Given the description of an element on the screen output the (x, y) to click on. 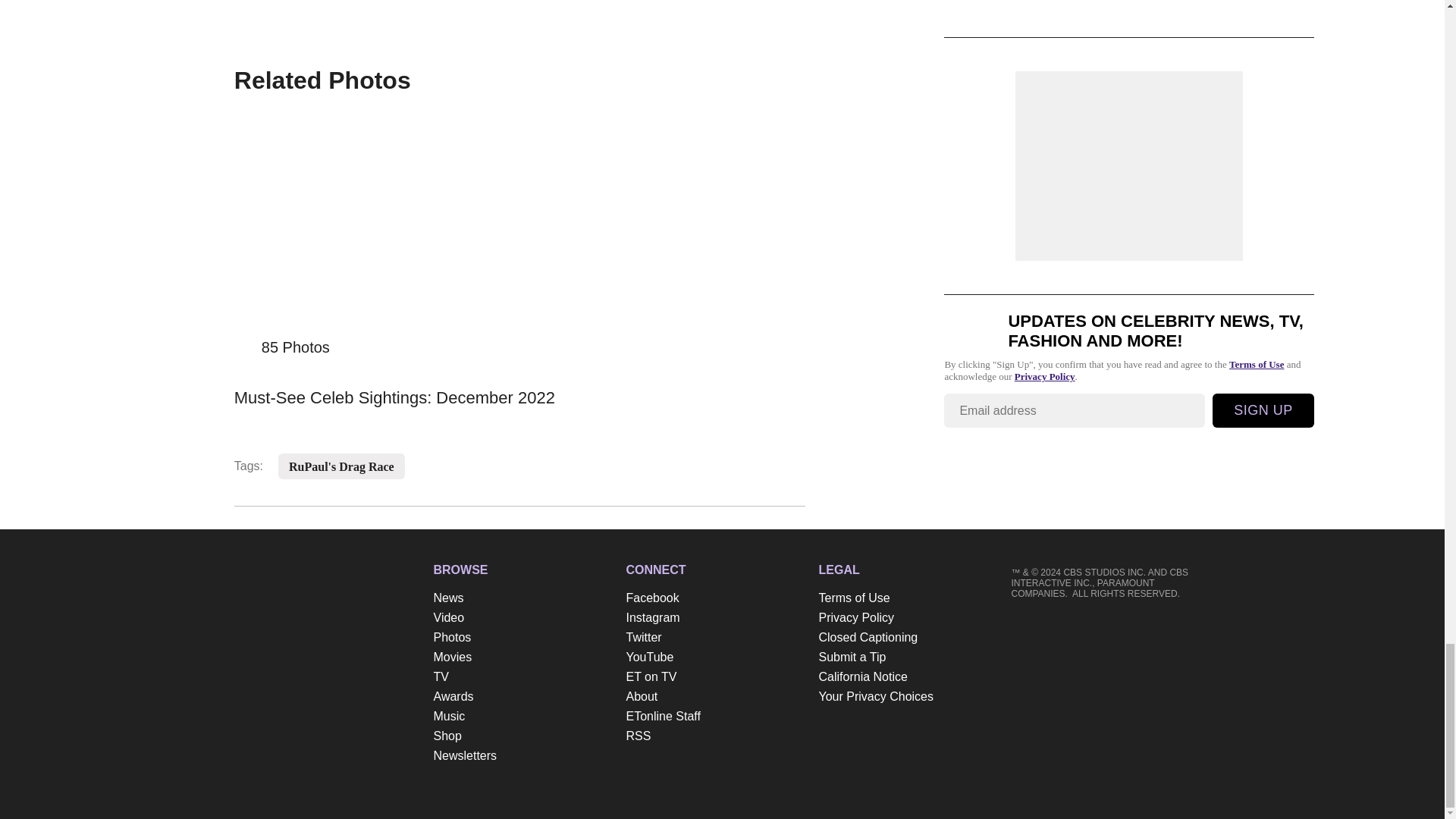
Must-See Celeb Sightings: December 2022 (519, 393)
RuPaul's Drag Race (341, 467)
